Given the description of an element on the screen output the (x, y) to click on. 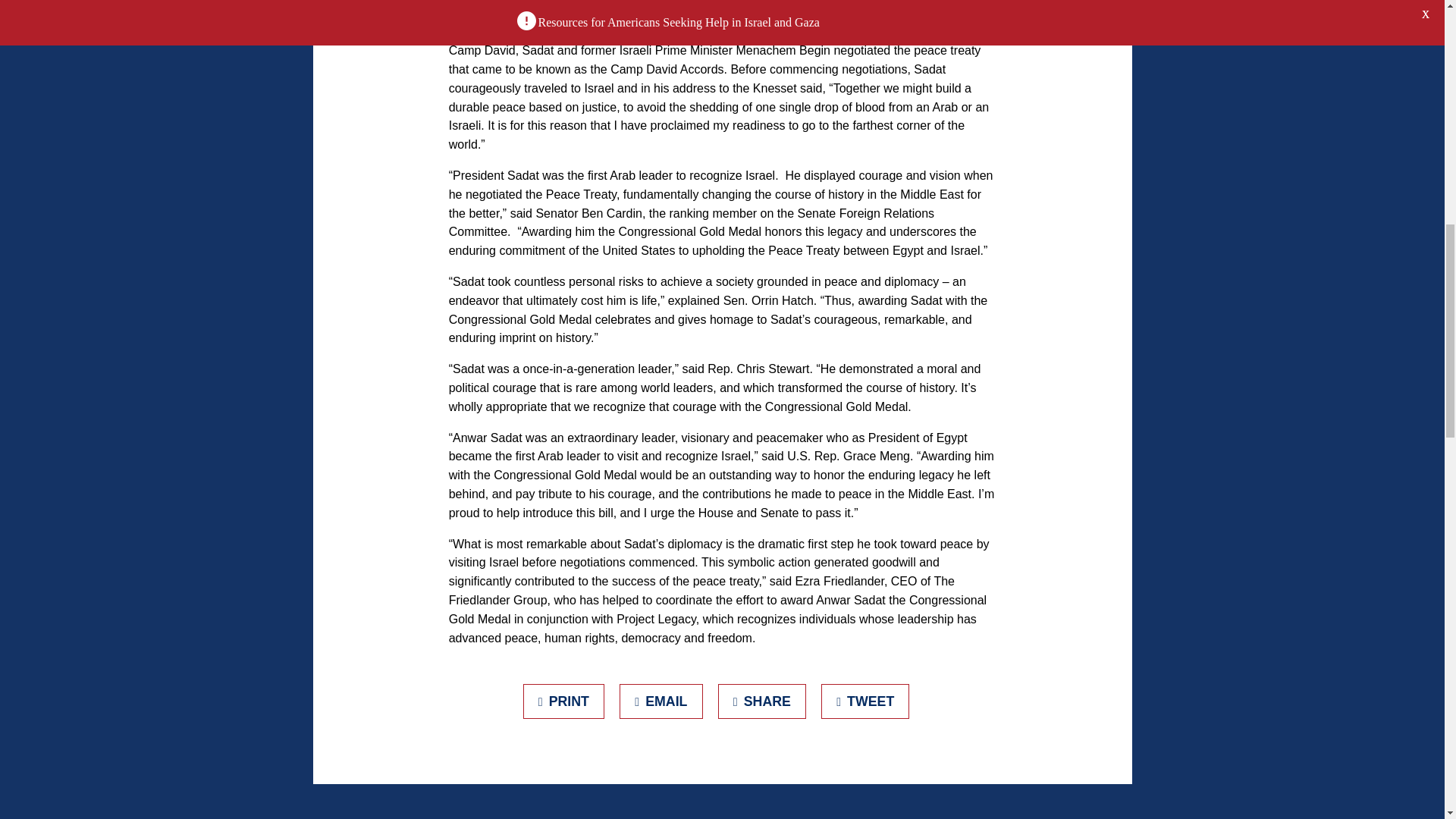
Tweet (865, 701)
Email (661, 701)
Print (563, 701)
Share on Facebook (761, 701)
